Given the description of an element on the screen output the (x, y) to click on. 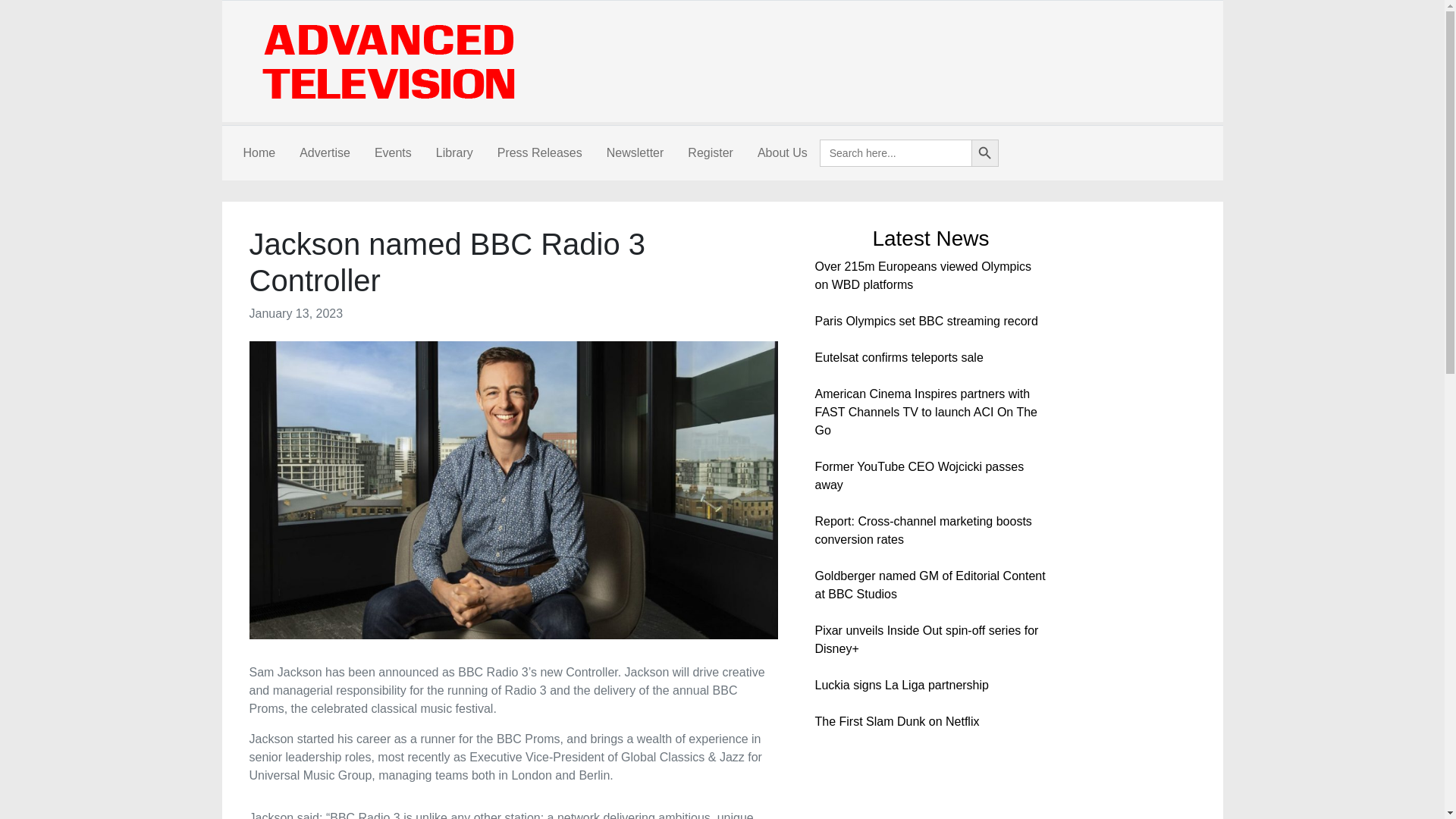
Register (710, 153)
Advertise (324, 153)
Former YouTube CEO Wojcicki passes away (918, 475)
Eutelsat confirms teleports sale (897, 357)
Over 215m Europeans viewed Olympics on WBD platforms (921, 275)
Report: Cross-channel marketing boosts conversion rates (921, 530)
Press Releases (539, 153)
The First Slam Dunk on Netflix (895, 721)
Paris Olympics set BBC streaming record (924, 320)
